Given the description of an element on the screen output the (x, y) to click on. 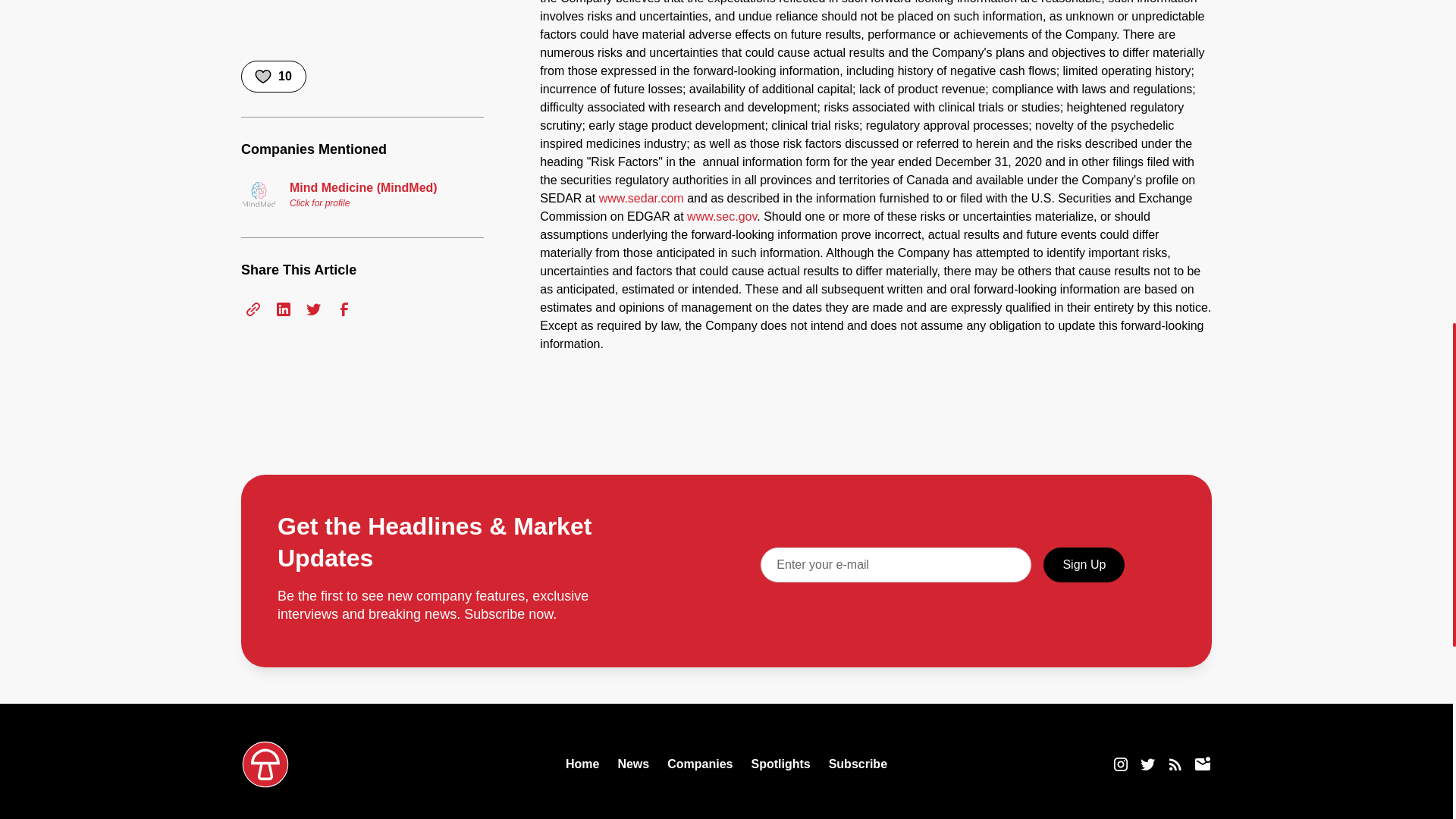
Subscribe (857, 763)
Sign Up (1083, 564)
News (633, 763)
Home (582, 763)
www.sec.gov (720, 215)
Instagram (1120, 764)
Spotlights (780, 763)
Companies (699, 763)
RSS Feed (1175, 764)
Twitter (1147, 764)
www.sedar.com (641, 197)
Email Us (1202, 764)
